Given the description of an element on the screen output the (x, y) to click on. 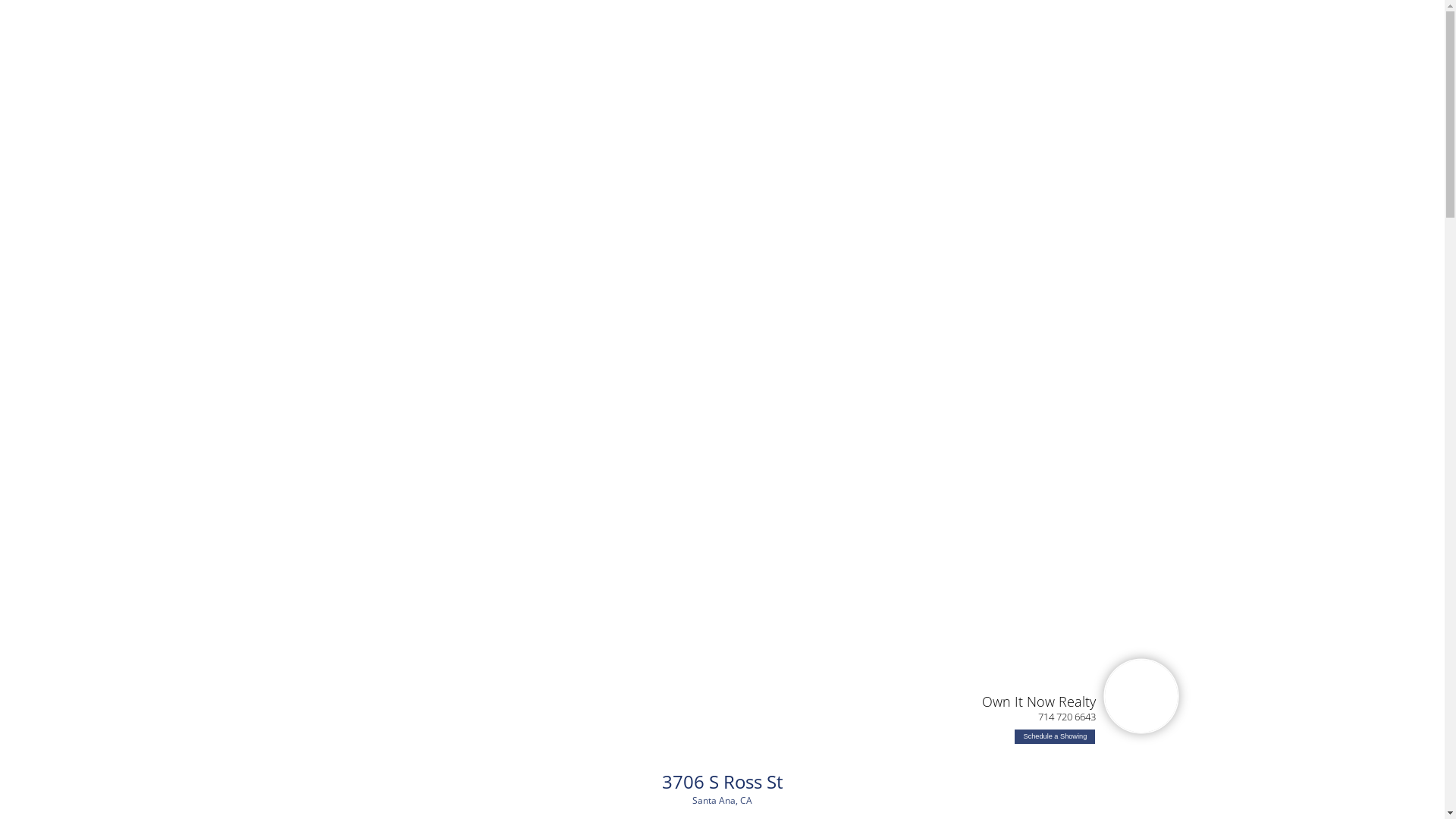
Own It Now Realty Element type: text (1038, 700)
Schedule a Showing Element type: text (1054, 736)
